Given the description of an element on the screen output the (x, y) to click on. 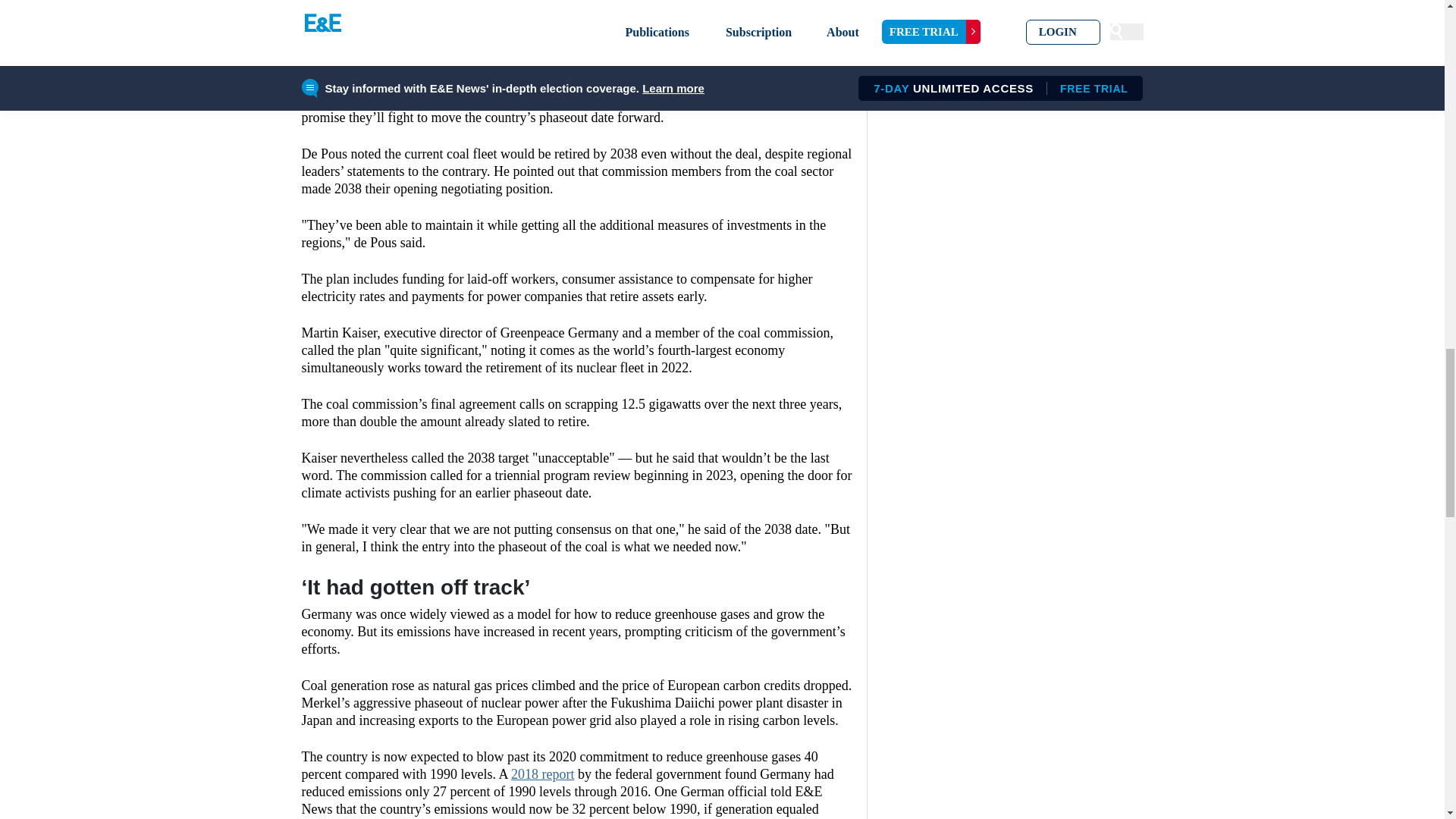
2018 report (542, 774)
